Given the description of an element on the screen output the (x, y) to click on. 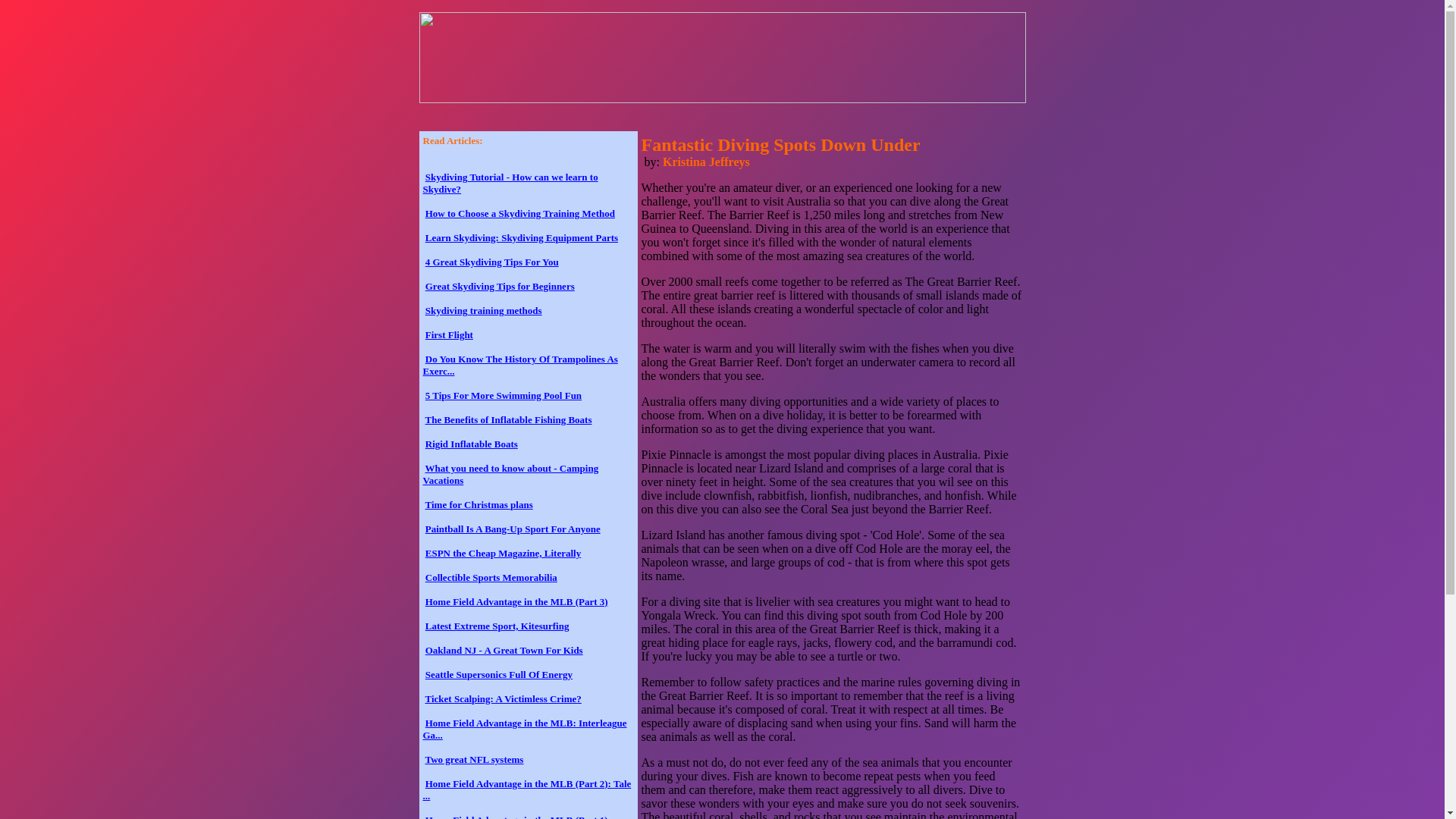
Skydiving Tutorial - How can we learn to Skydive? (510, 182)
4 Great Skydiving Tips For You (492, 261)
Home Field Advantage in the MLB: Interleague Ga... (525, 729)
First Flight (449, 334)
Two great NFL systems (474, 758)
Ticket Scalping: A Victimless Crime? (502, 698)
The Benefits of Inflatable Fishing Boats (508, 419)
Latest Extreme Sport, Kitesurfing (497, 625)
Seattle Supersonics Full Of Energy (498, 674)
What you need to know about - Camping Vacations (510, 474)
